Given the description of an element on the screen output the (x, y) to click on. 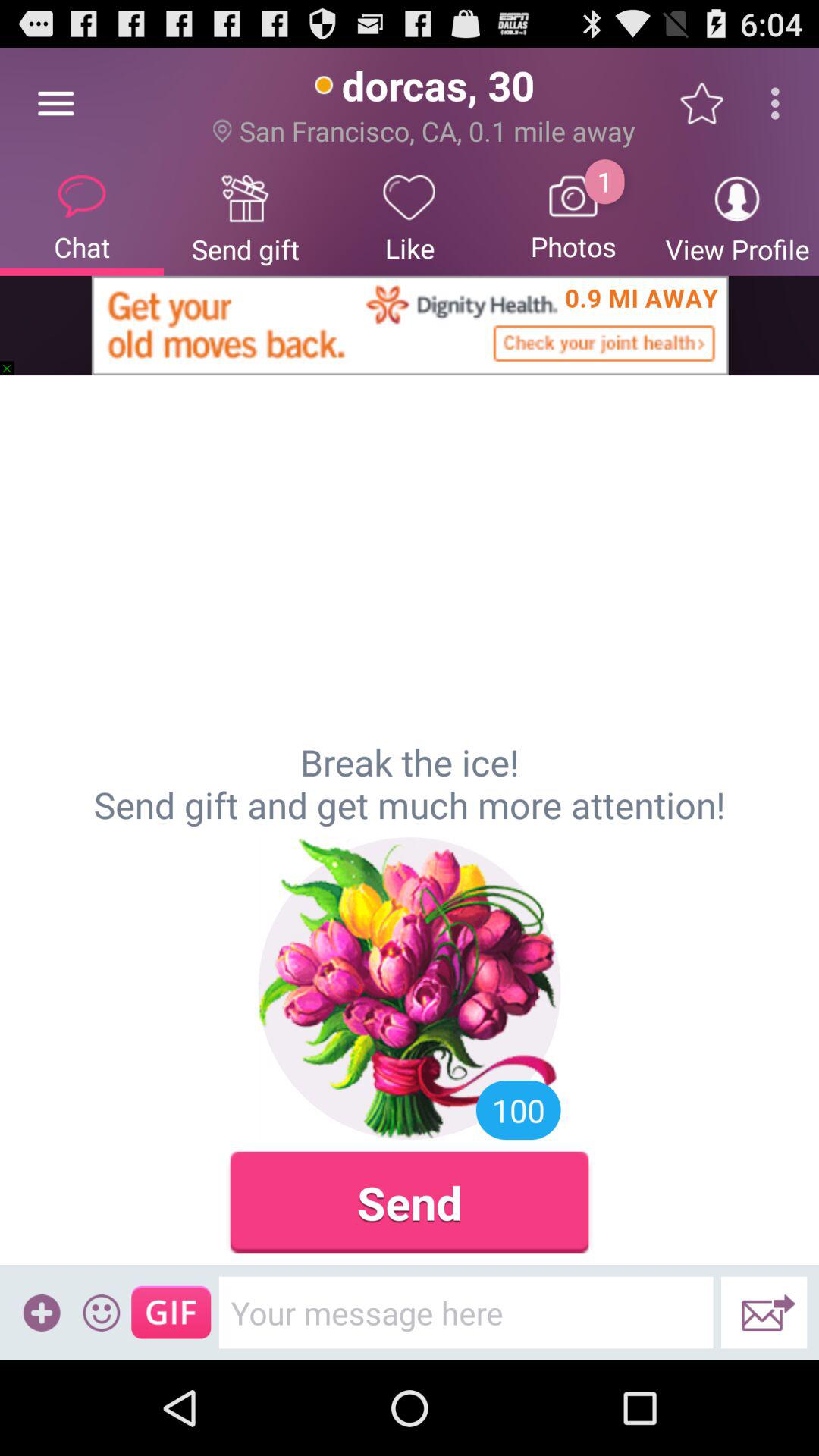
click the icon to the right of san francisco ca icon (709, 103)
